Given the description of an element on the screen output the (x, y) to click on. 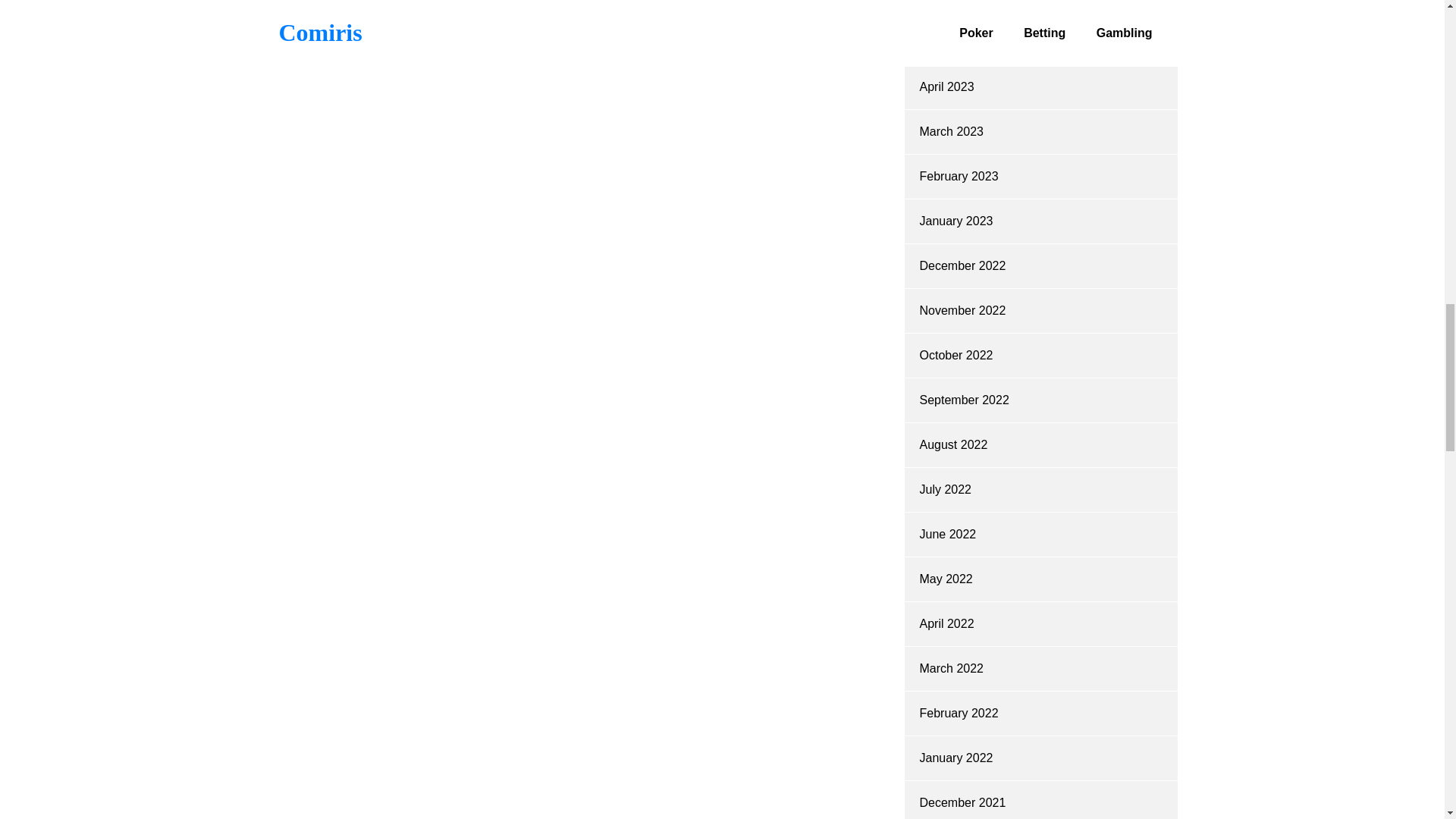
February 2023 (957, 175)
June 2023 (946, 2)
March 2023 (951, 131)
December 2022 (962, 265)
April 2023 (946, 86)
August 2022 (952, 444)
May 2023 (945, 42)
September 2022 (963, 399)
October 2022 (955, 354)
January 2023 (955, 220)
November 2022 (962, 309)
